Given the description of an element on the screen output the (x, y) to click on. 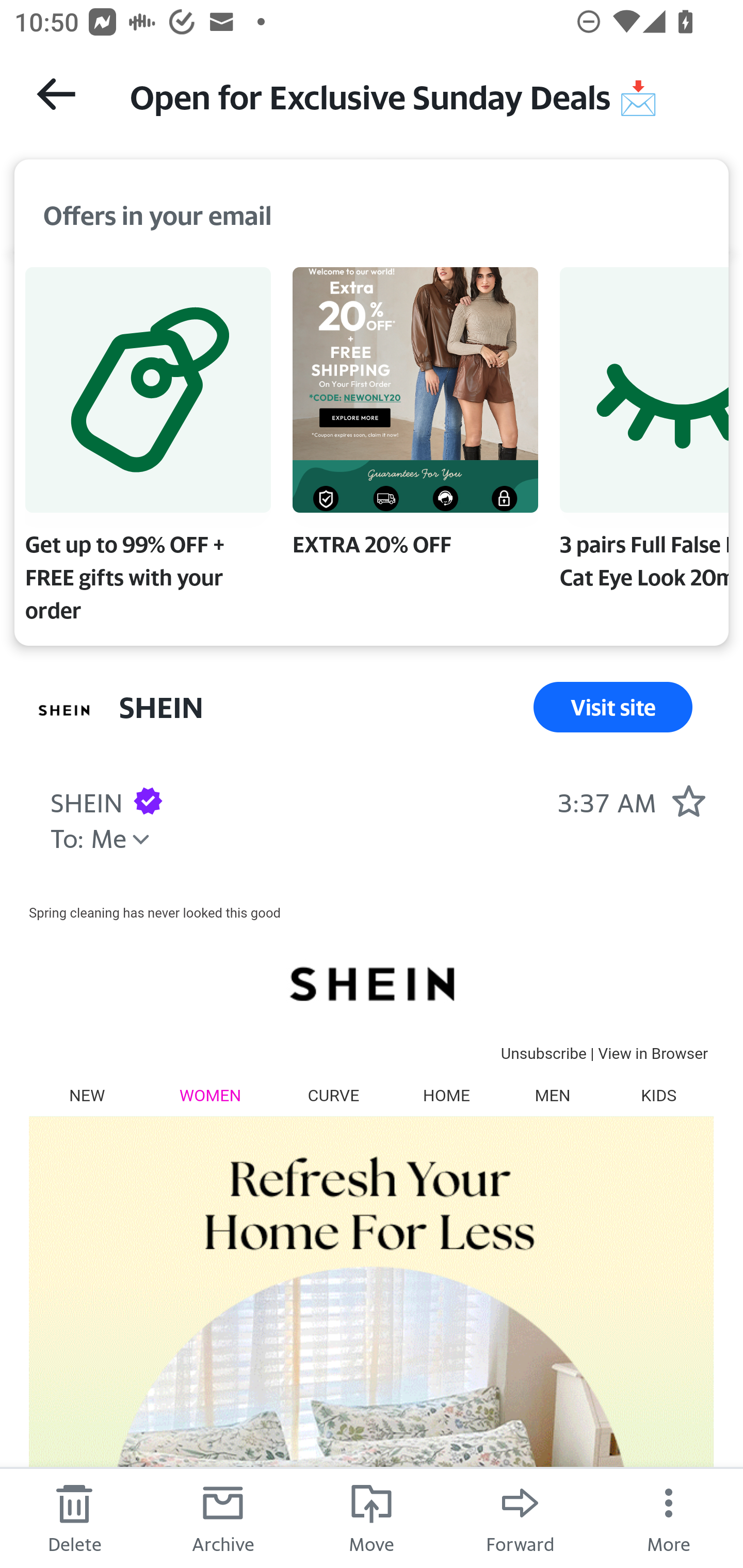
Back (55, 93)
Open for Exclusive Sunday Deals 📩 (418, 94)
Get up to 99% OFF + FREE gifts with your order (147, 448)
EXTRA 20% OFF (415, 416)
View all messages from sender (64, 711)
Visit site Visit Site Link (612, 707)
SHEIN Sender SHEIN (160, 706)
SHEIN Sender SHEIN (86, 800)
Mark as starred. (688, 800)
Spring cleaning has never looked this good (154, 912)
SHEIN (370, 982)
Unsubscribe (543, 1052)
View in Browser (652, 1052)
NEW (86, 1095)
WOMEN (210, 1095)
CURVE (333, 1095)
HOME (445, 1095)
MEN (552, 1095)
KIDS (658, 1095)
REFRESH YOUR HOME FOR LESS (370, 1342)
Delete (74, 1517)
Archive (222, 1517)
Move (371, 1517)
Forward (519, 1517)
More (668, 1517)
